Given the description of an element on the screen output the (x, y) to click on. 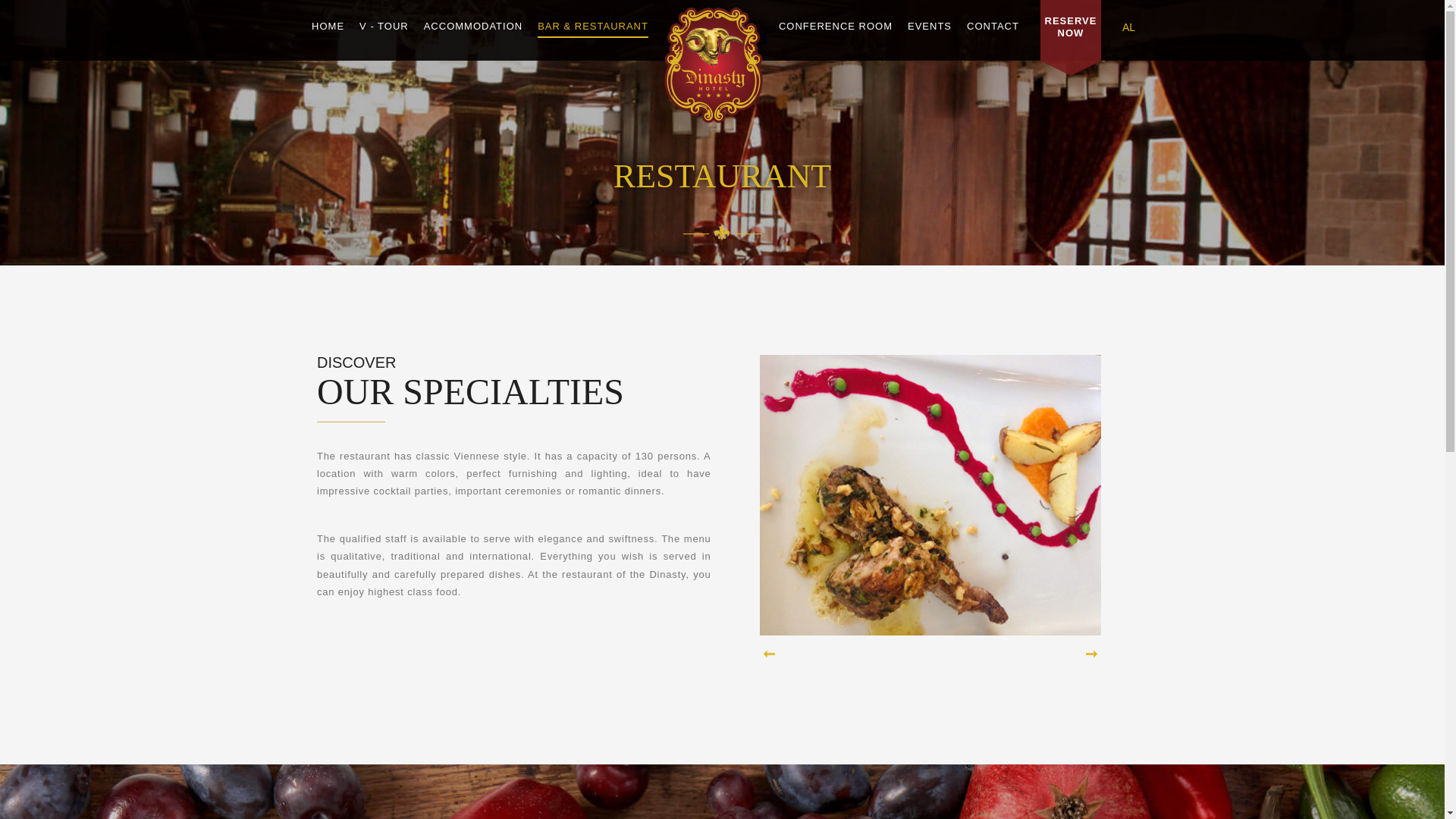
V - TOUR (384, 26)
ACCOMMODATION (472, 26)
 Home Menu Item (327, 26)
EVENTS (929, 26)
AL (1128, 27)
HOME (327, 26)
CONTACT (992, 26)
CONFERENCE ROOM (835, 26)
RESERVE NOW (1070, 26)
